Given the description of an element on the screen output the (x, y) to click on. 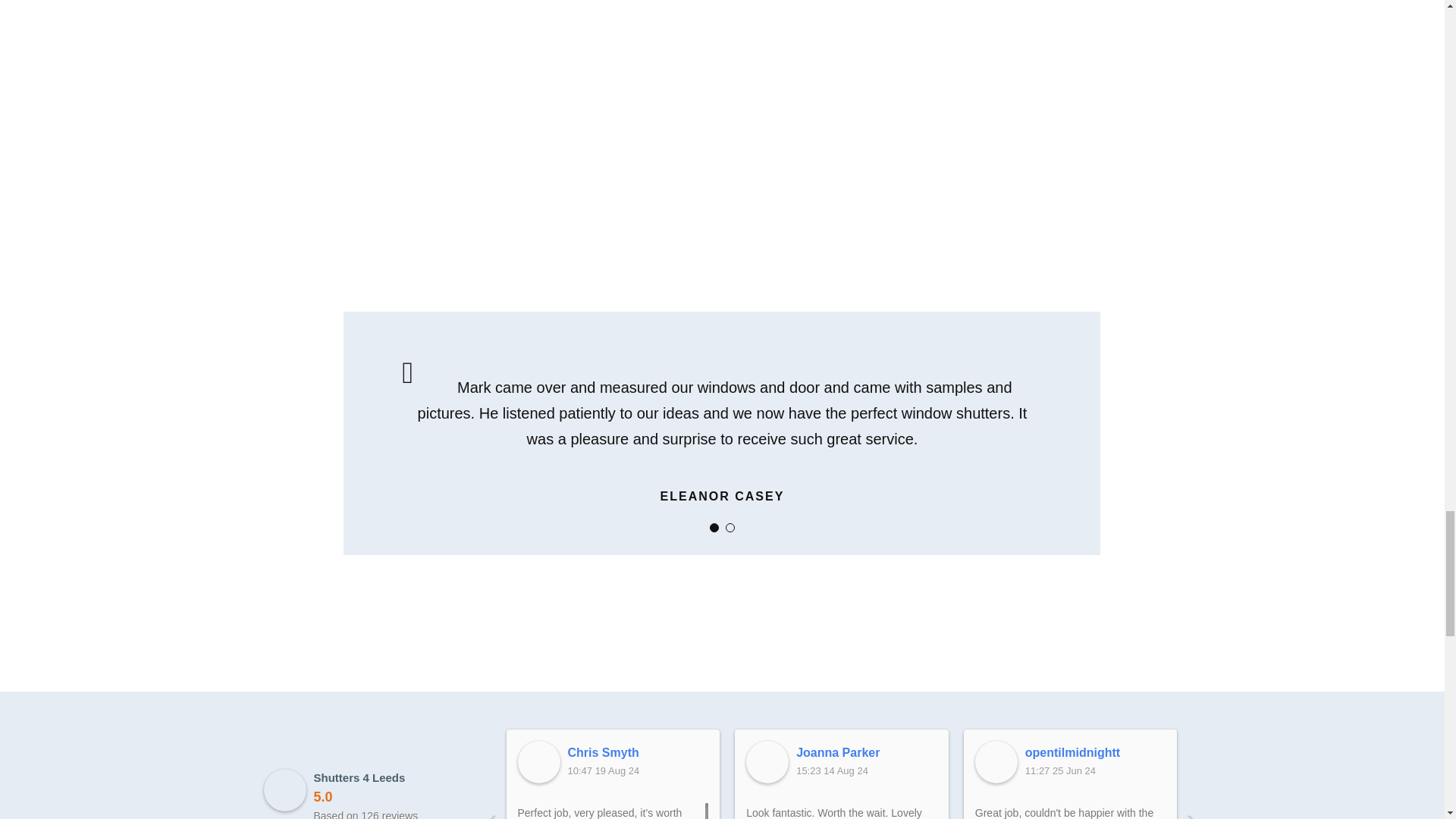
Chris Smyth (537, 761)
Joanna Parker (866, 752)
Joanna Parker (767, 761)
amy mackintosh (1225, 761)
opentilmidnightt (1095, 752)
Shutters 4 Leeds (284, 790)
Chris Smyth (637, 752)
amy mackintosh (1323, 752)
opentilmidnightt (996, 761)
